Given the description of an element on the screen output the (x, y) to click on. 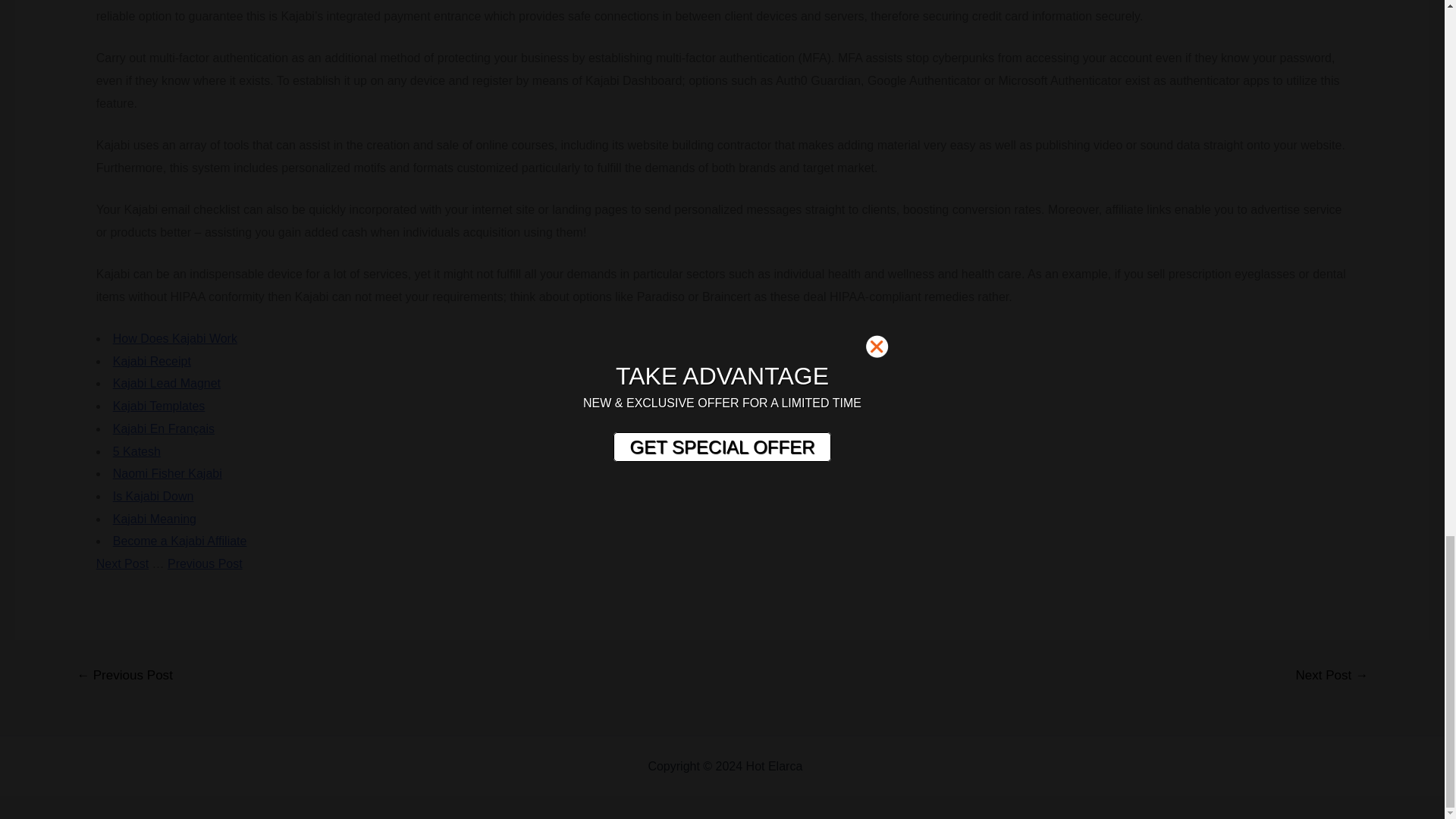
How Does Kajabi Work (175, 338)
Naomi Fisher Kajabi (167, 472)
Kajabi Receipt (151, 360)
Previous Post (205, 563)
Is Kajabi Down (153, 495)
Kajabi Templates (159, 405)
5 Katesh (136, 451)
How Does Kajabi Work (175, 338)
Next Post (122, 563)
Kajabi Lead Magnet (167, 382)
